Given the description of an element on the screen output the (x, y) to click on. 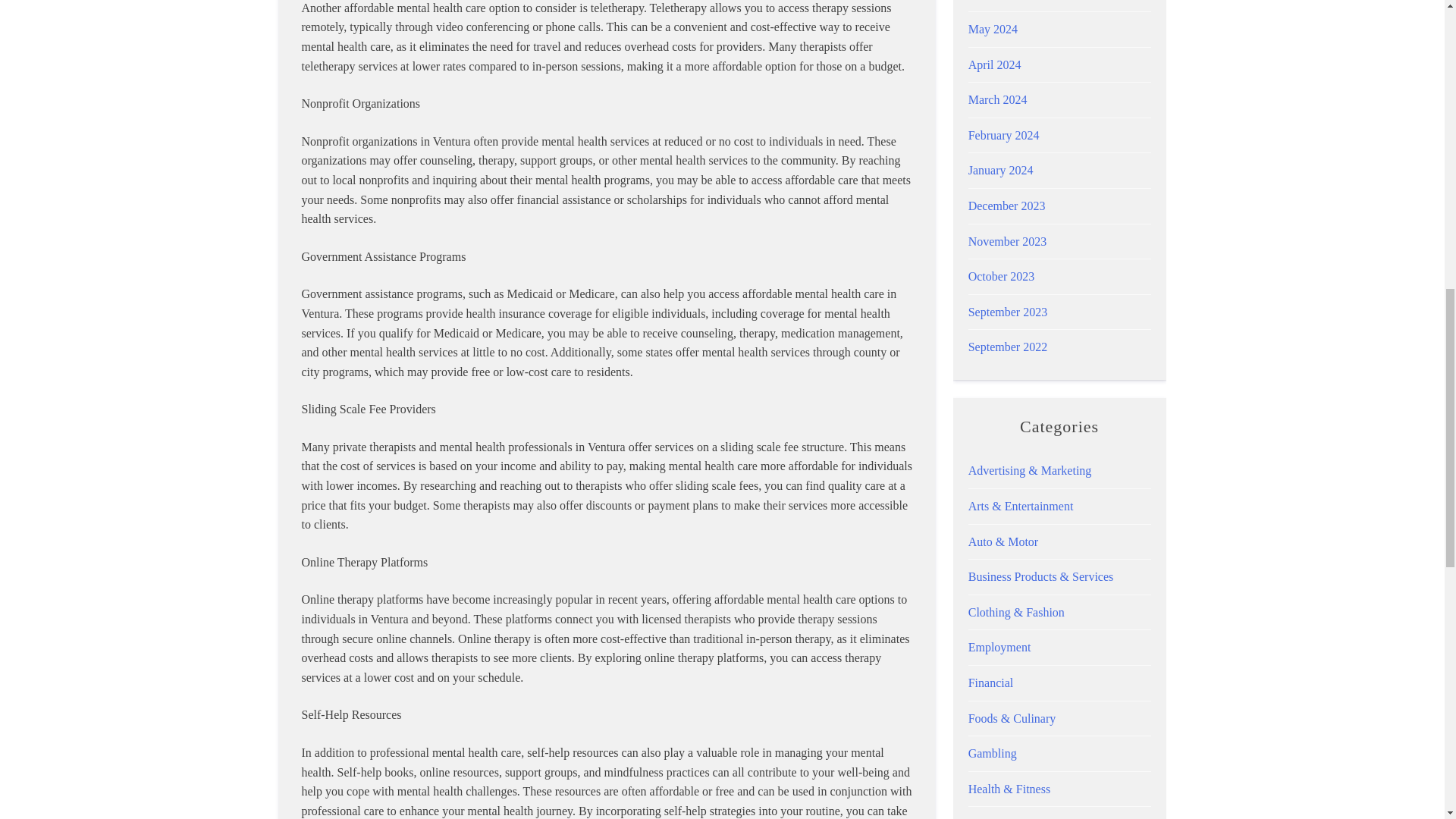
December 2023 (1006, 205)
May 2024 (992, 29)
November 2023 (1007, 241)
Financial (990, 682)
March 2024 (997, 99)
September 2023 (1007, 311)
September 2022 (1007, 346)
Employment (999, 646)
February 2024 (1003, 134)
Gambling (992, 753)
October 2023 (1001, 276)
April 2024 (995, 64)
January 2024 (1000, 169)
